Given the description of an element on the screen output the (x, y) to click on. 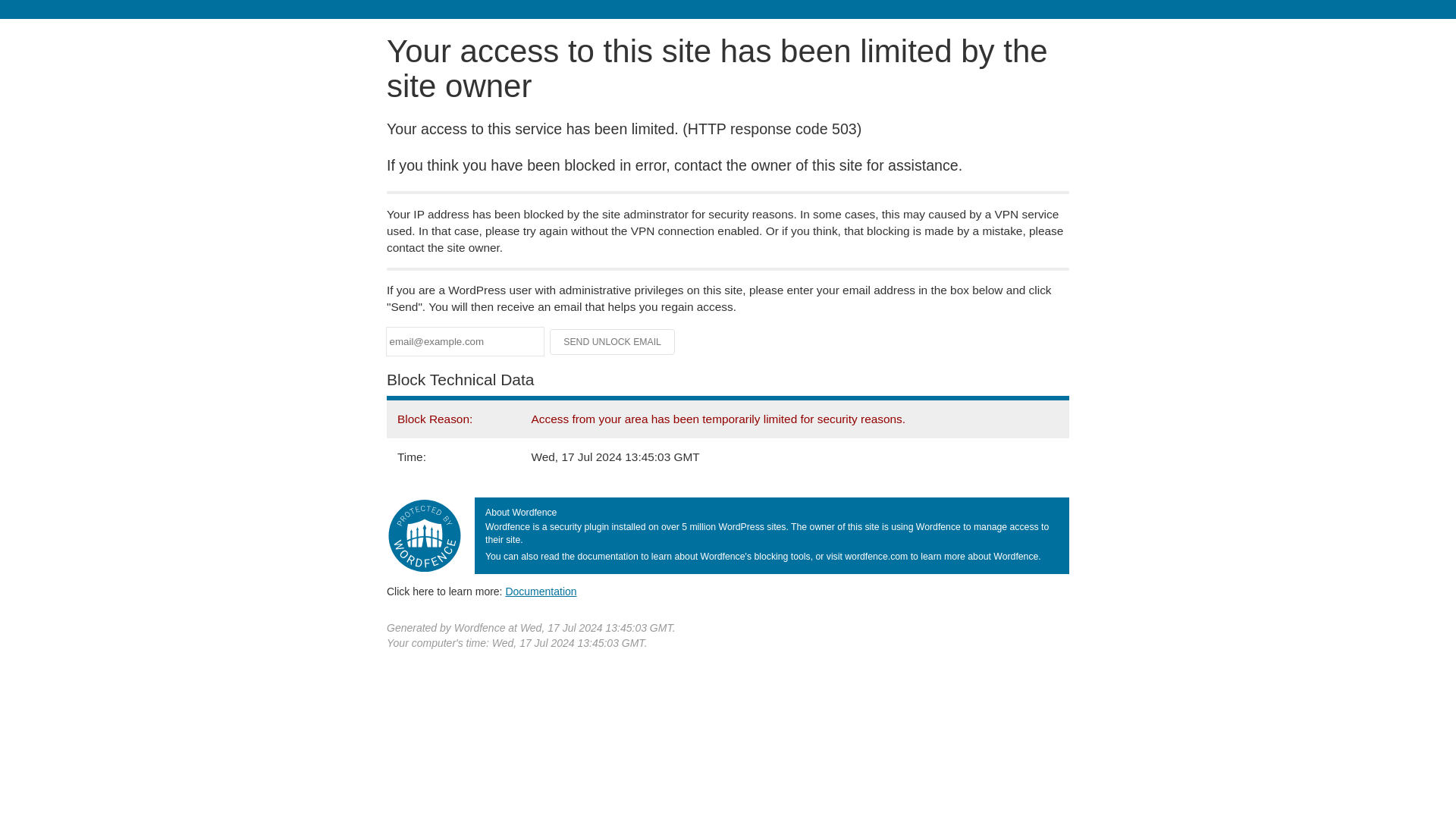
Documentation (540, 591)
Send Unlock Email (612, 341)
Send Unlock Email (612, 341)
